Given the description of an element on the screen output the (x, y) to click on. 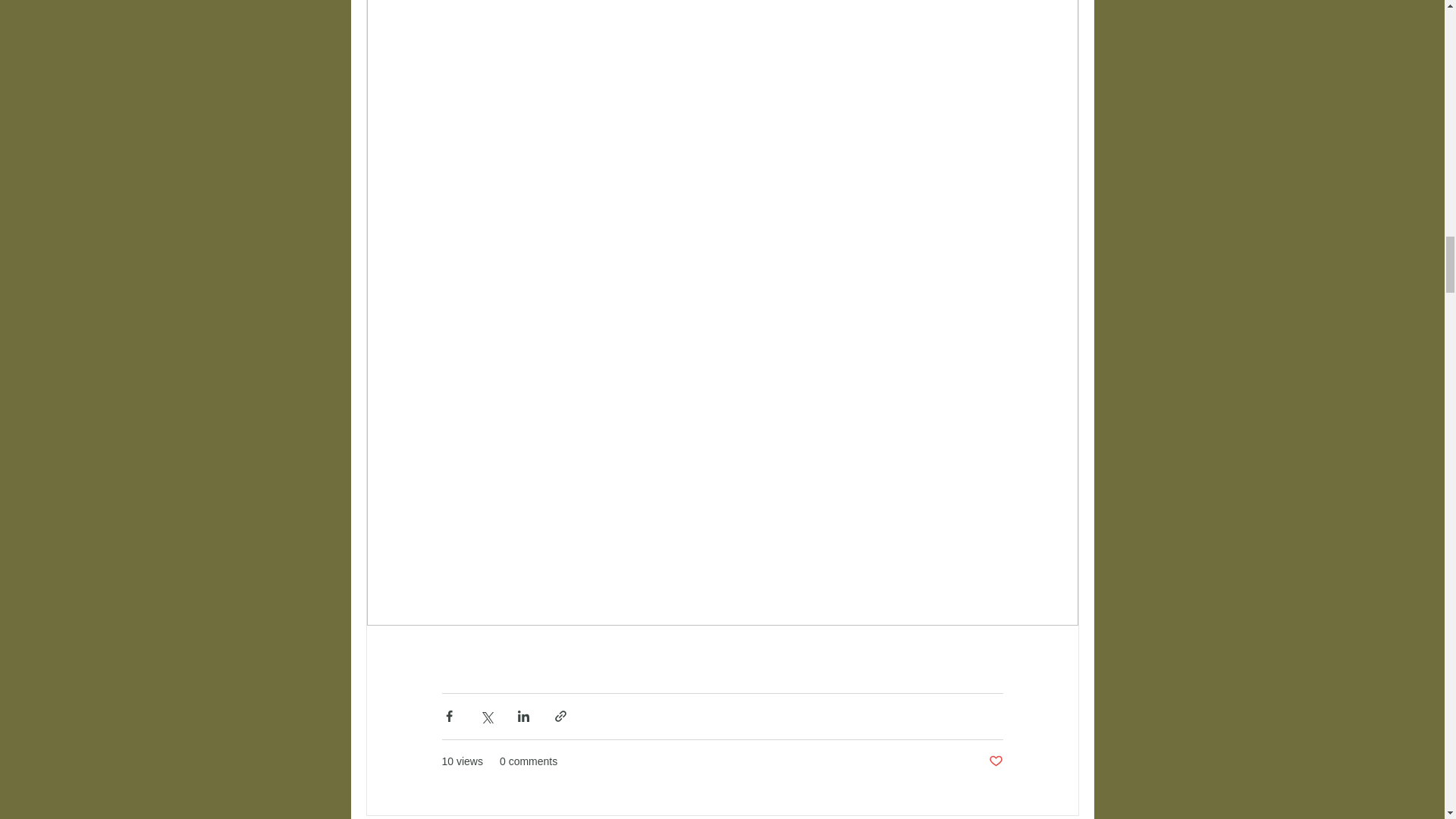
Post not marked as liked (995, 761)
0 comments (528, 761)
